Given the description of an element on the screen output the (x, y) to click on. 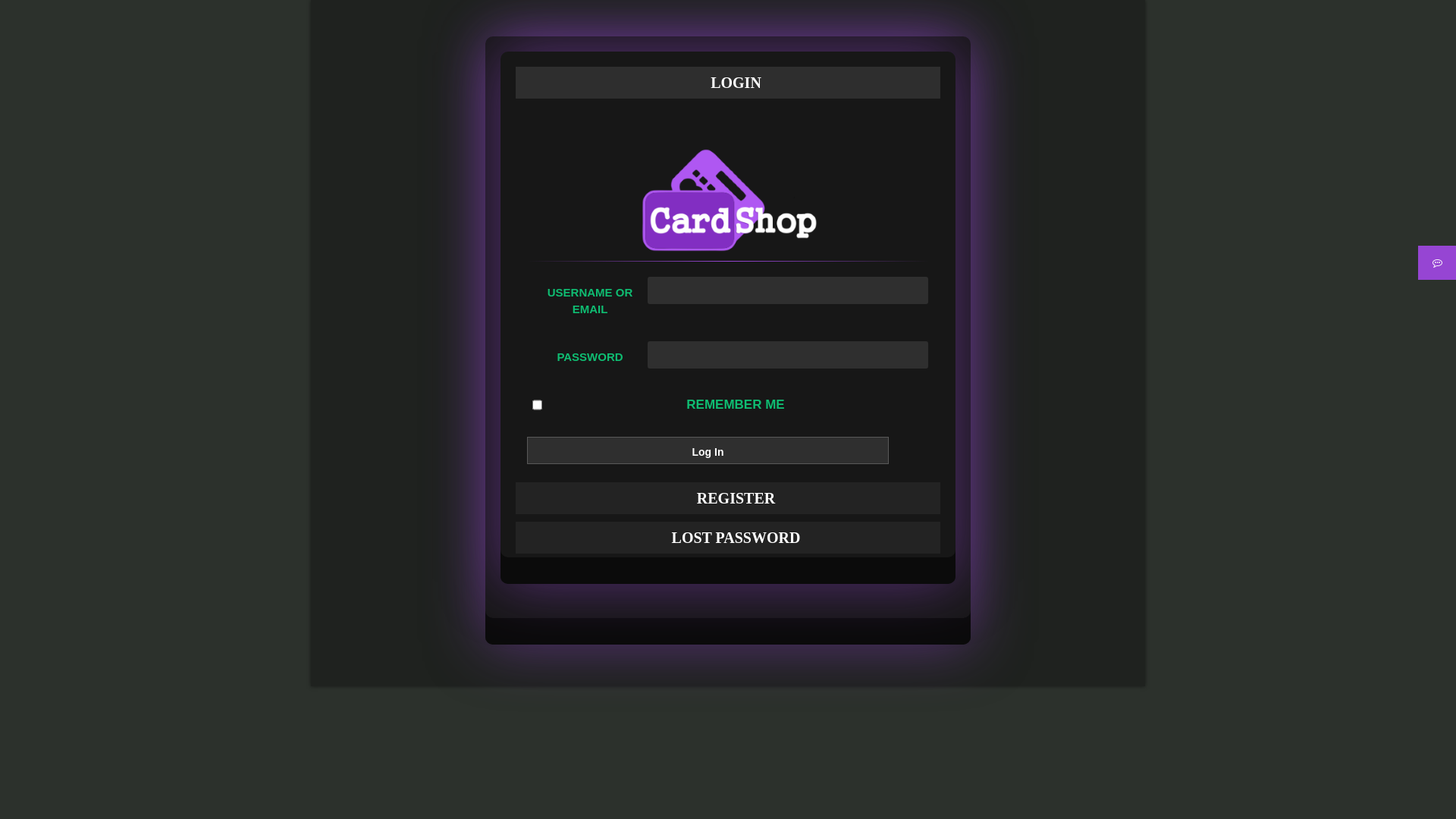
Log In Element type: text (707, 450)
